Given the description of an element on the screen output the (x, y) to click on. 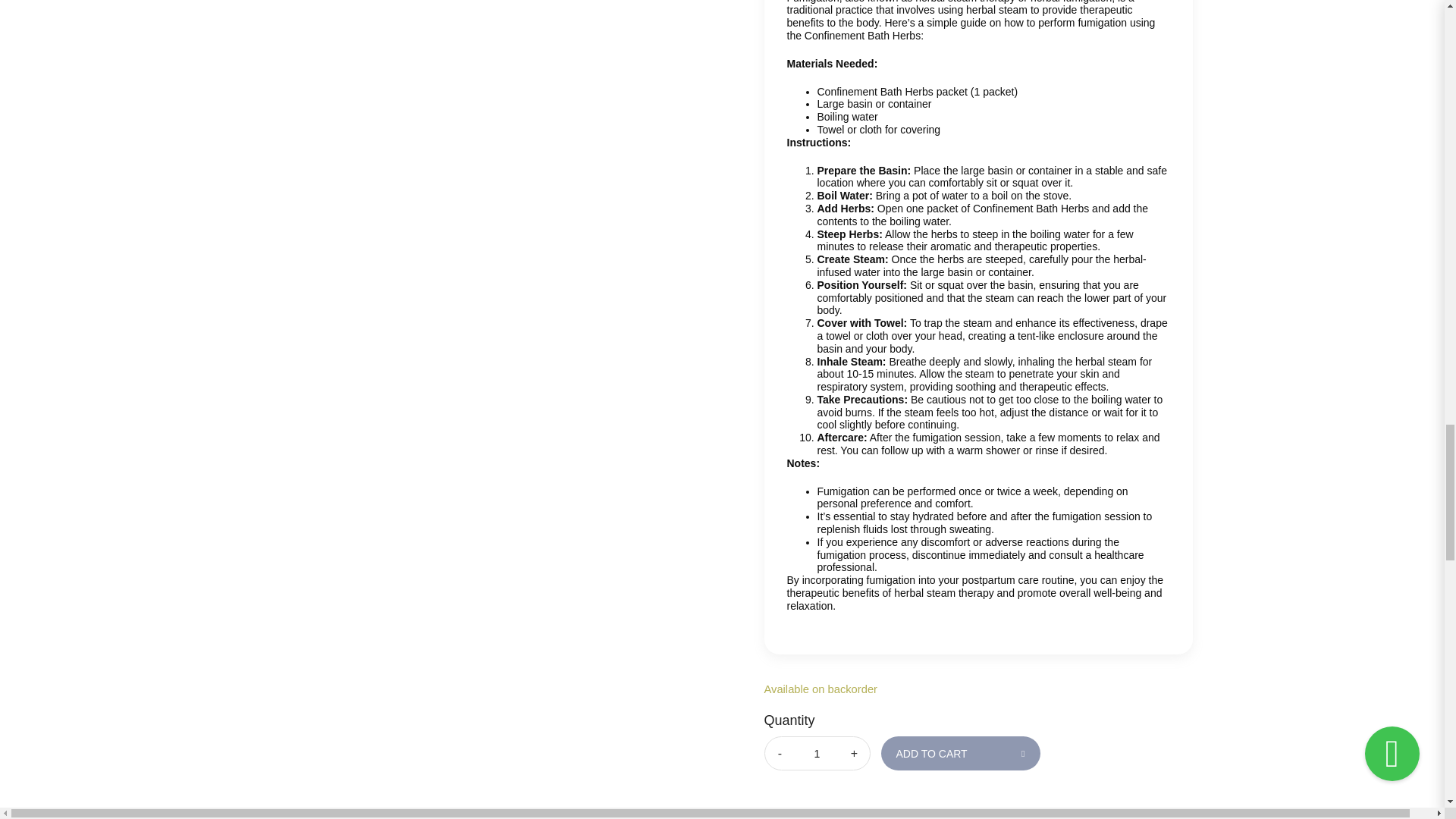
1 (816, 753)
